Given the description of an element on the screen output the (x, y) to click on. 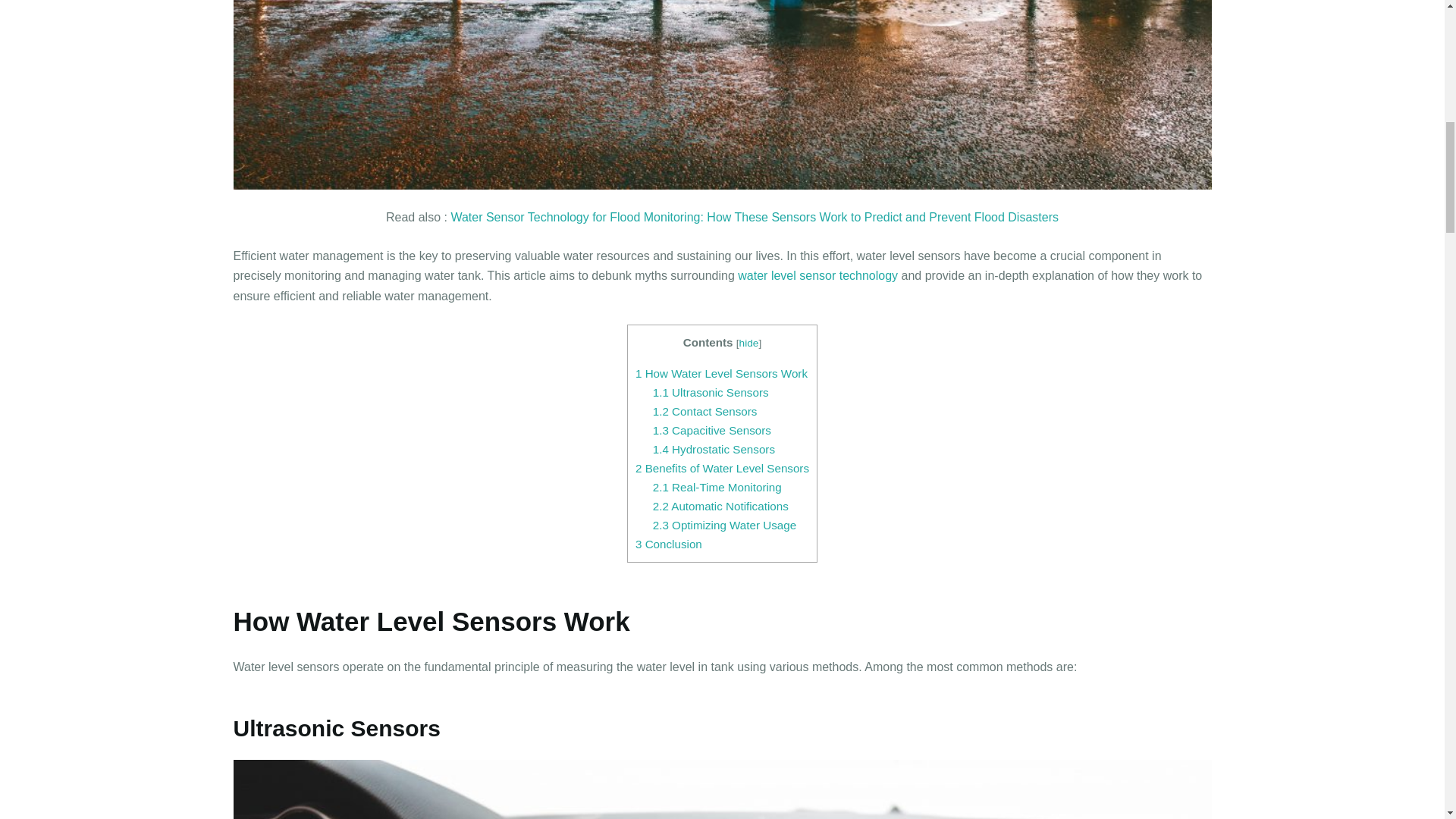
hide (748, 342)
2.2 Automatic Notifications (720, 505)
1.2 Contact Sensors (704, 410)
1.1 Ultrasonic Sensors (710, 391)
2.1 Real-Time Monitoring (716, 486)
water level sensor technology (818, 275)
1 How Water Level Sensors Work (721, 373)
2.3 Optimizing Water Usage (724, 524)
2 Benefits of Water Level Sensors (721, 468)
1.3 Capacitive Sensors (711, 430)
1.4 Hydrostatic Sensors (713, 449)
3 Conclusion (667, 543)
